Given the description of an element on the screen output the (x, y) to click on. 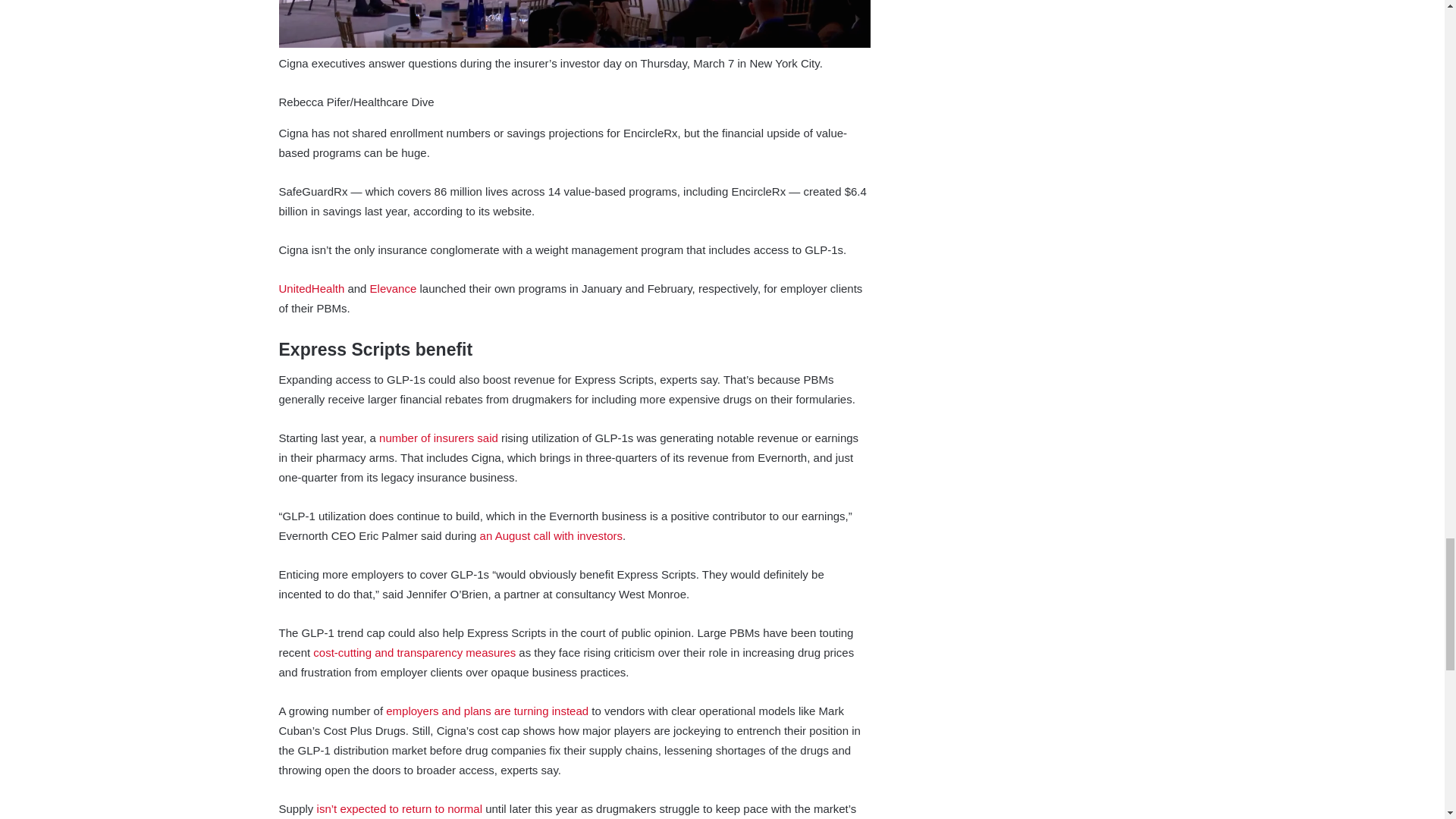
employers and plans are turning instead (486, 710)
Elevance (392, 287)
an August call with investors (551, 535)
number of insurers said (437, 437)
cost-cutting and transparency measures (414, 652)
UnitedHealth (312, 287)
